Given the description of an element on the screen output the (x, y) to click on. 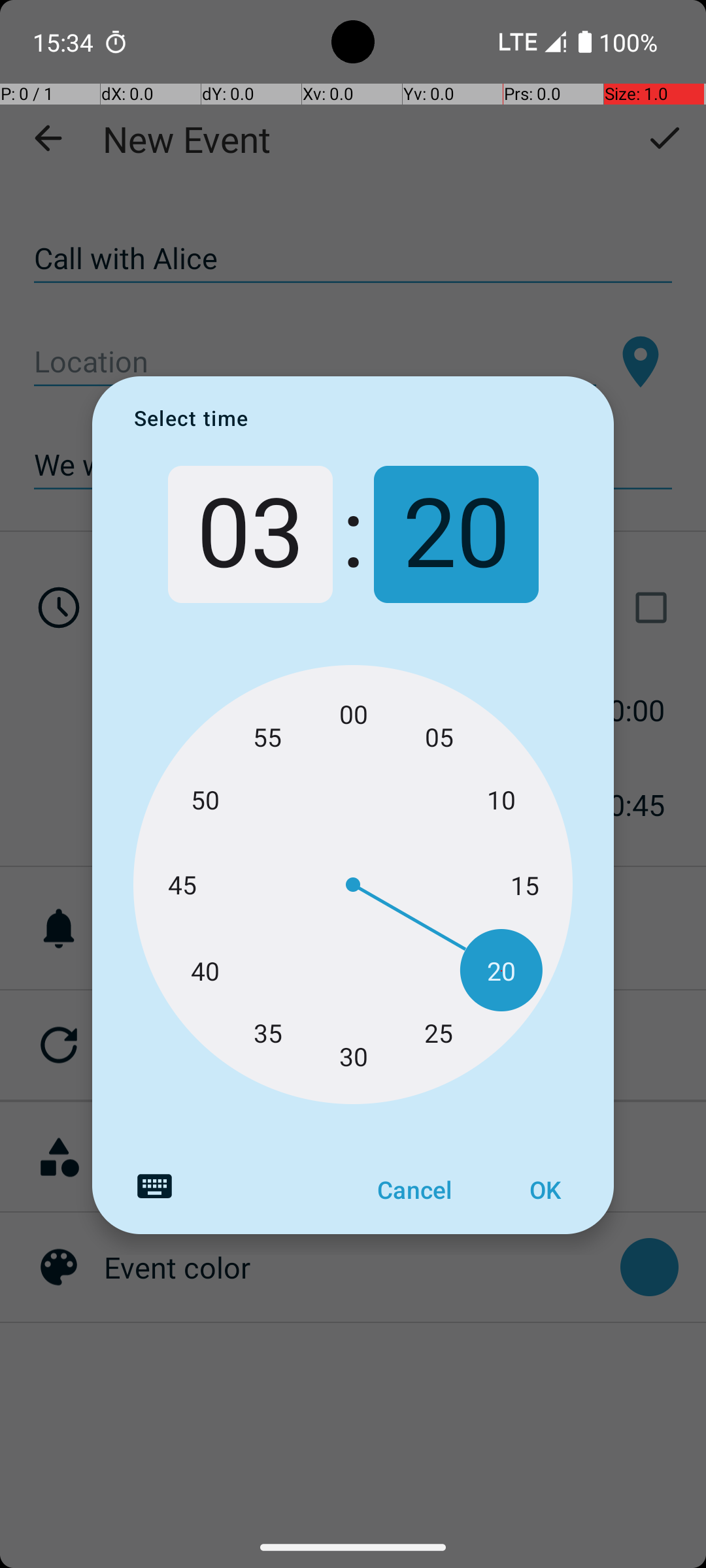
03 Element type: android.view.View (250, 534)
